Given the description of an element on the screen output the (x, y) to click on. 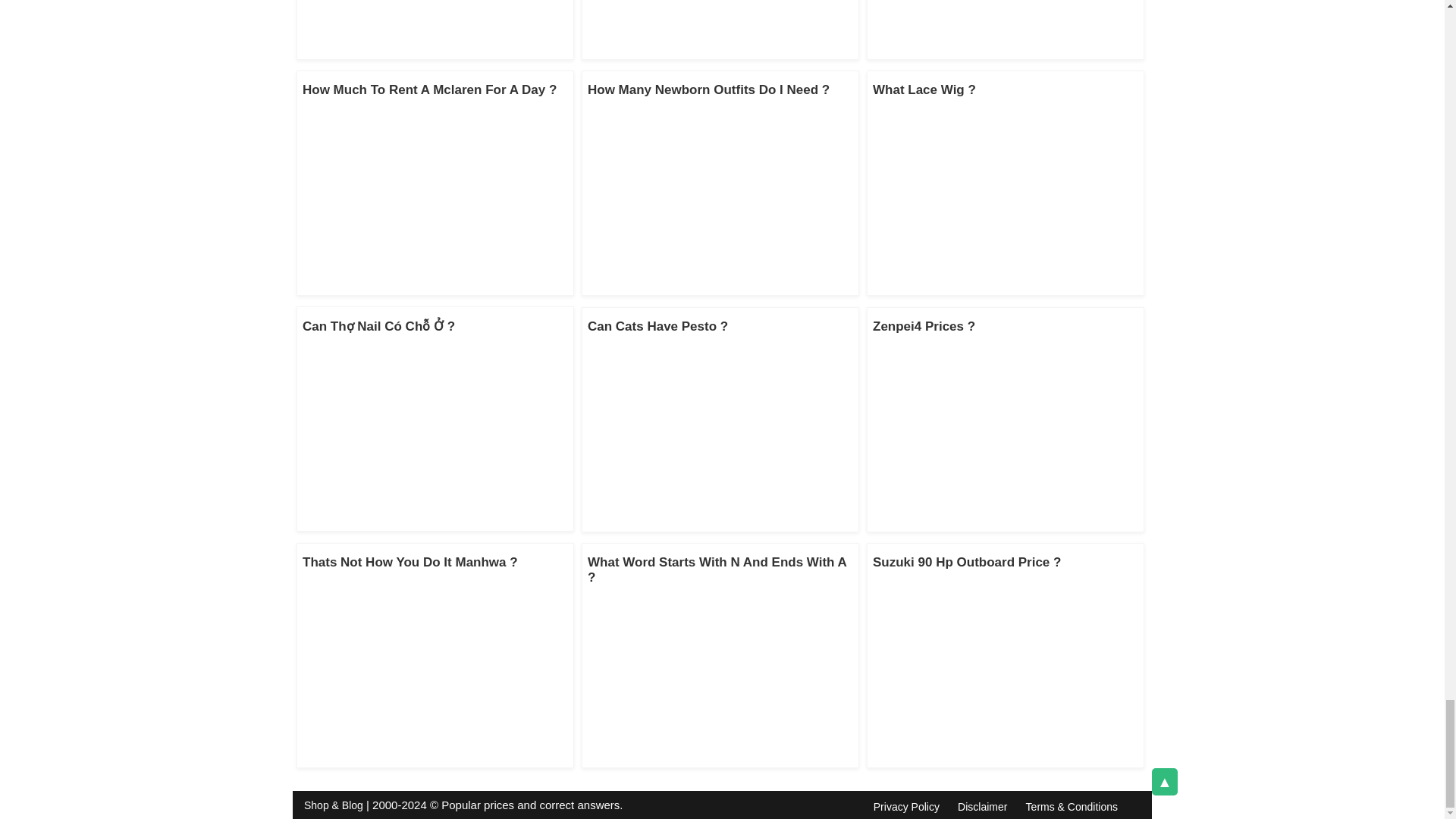
What Word Starts With N And Ends With A ? (716, 569)
How Much To Rent A Mclaren For A Day ? (429, 89)
Can Cats Have Pesto ? (658, 326)
Thats Not How You Do It Manhwa ? (410, 562)
How Many Newborn Outfits Do I Need ? (708, 89)
